Given the description of an element on the screen output the (x, y) to click on. 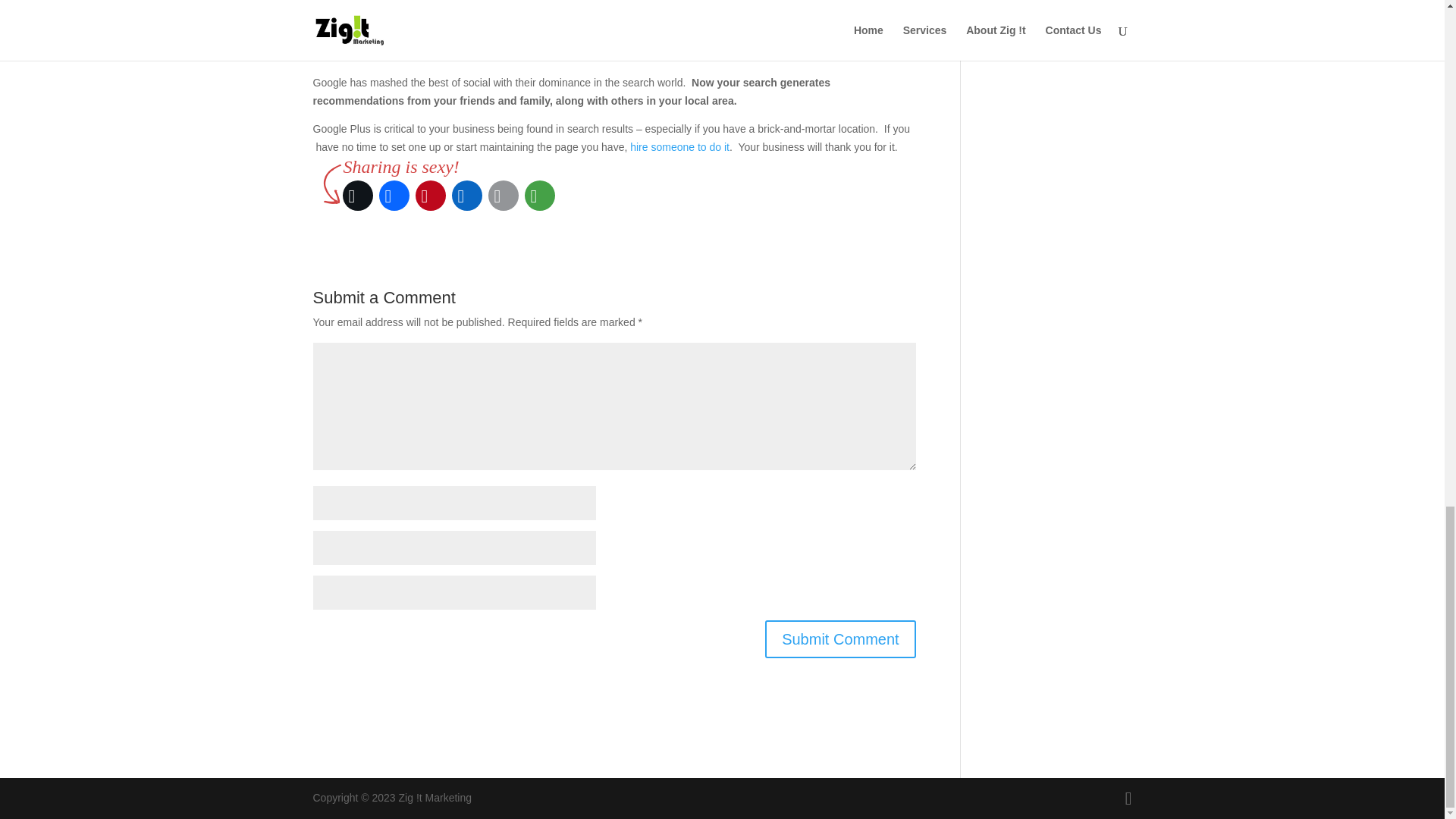
Pinterest (430, 195)
hire someone to do it (679, 146)
LinkedIn (466, 195)
Submit Comment (840, 638)
Facebook (393, 195)
Submit Comment (840, 638)
google-local (875, 5)
Zig !t Marketing (679, 146)
